Given the description of an element on the screen output the (x, y) to click on. 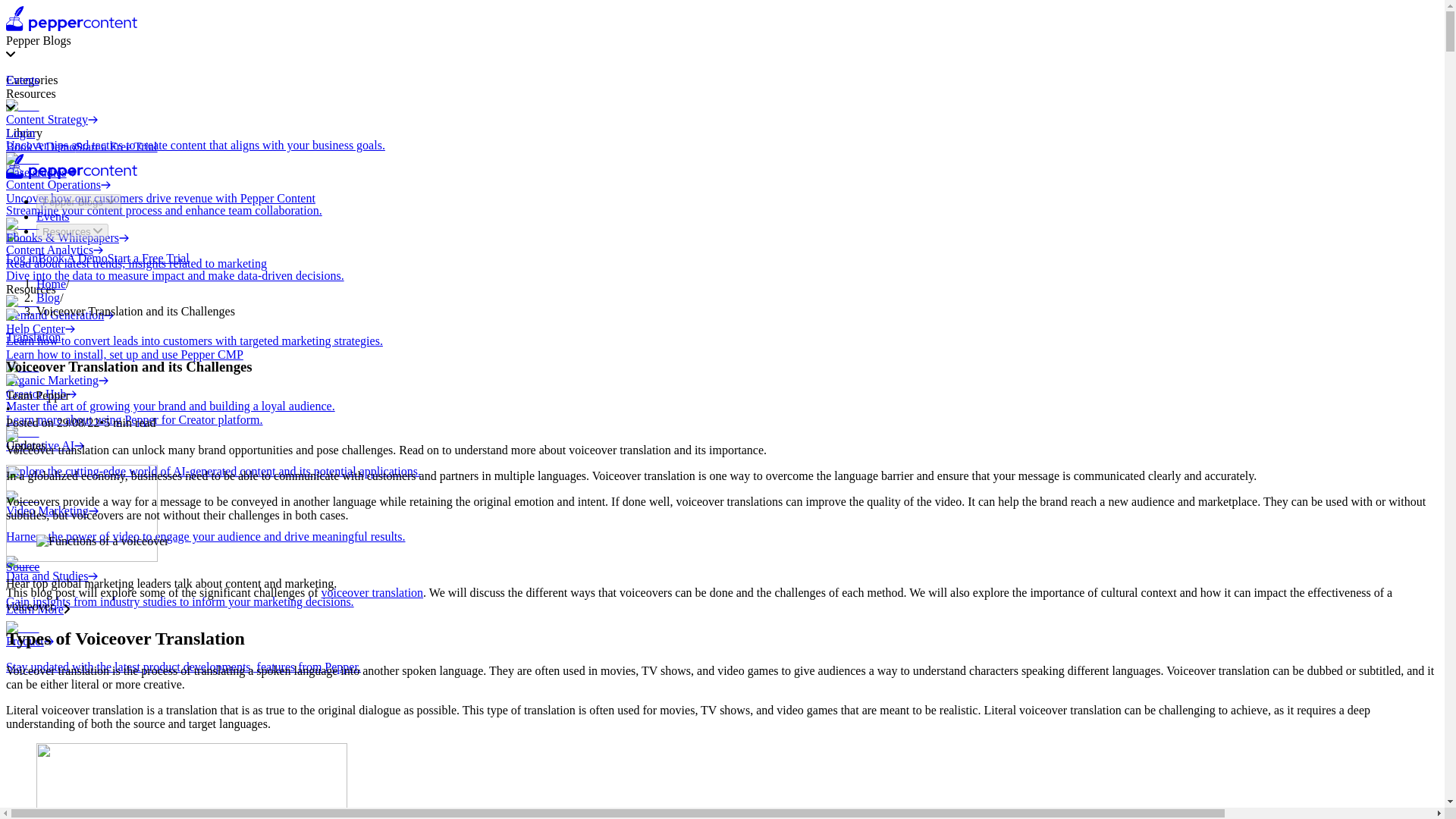
Login (19, 132)
Homepage (71, 174)
Events (22, 79)
Book A Demo (721, 347)
Source (72, 257)
Home (22, 566)
Translation (50, 283)
Events (33, 336)
Homepage (52, 215)
